Given the description of an element on the screen output the (x, y) to click on. 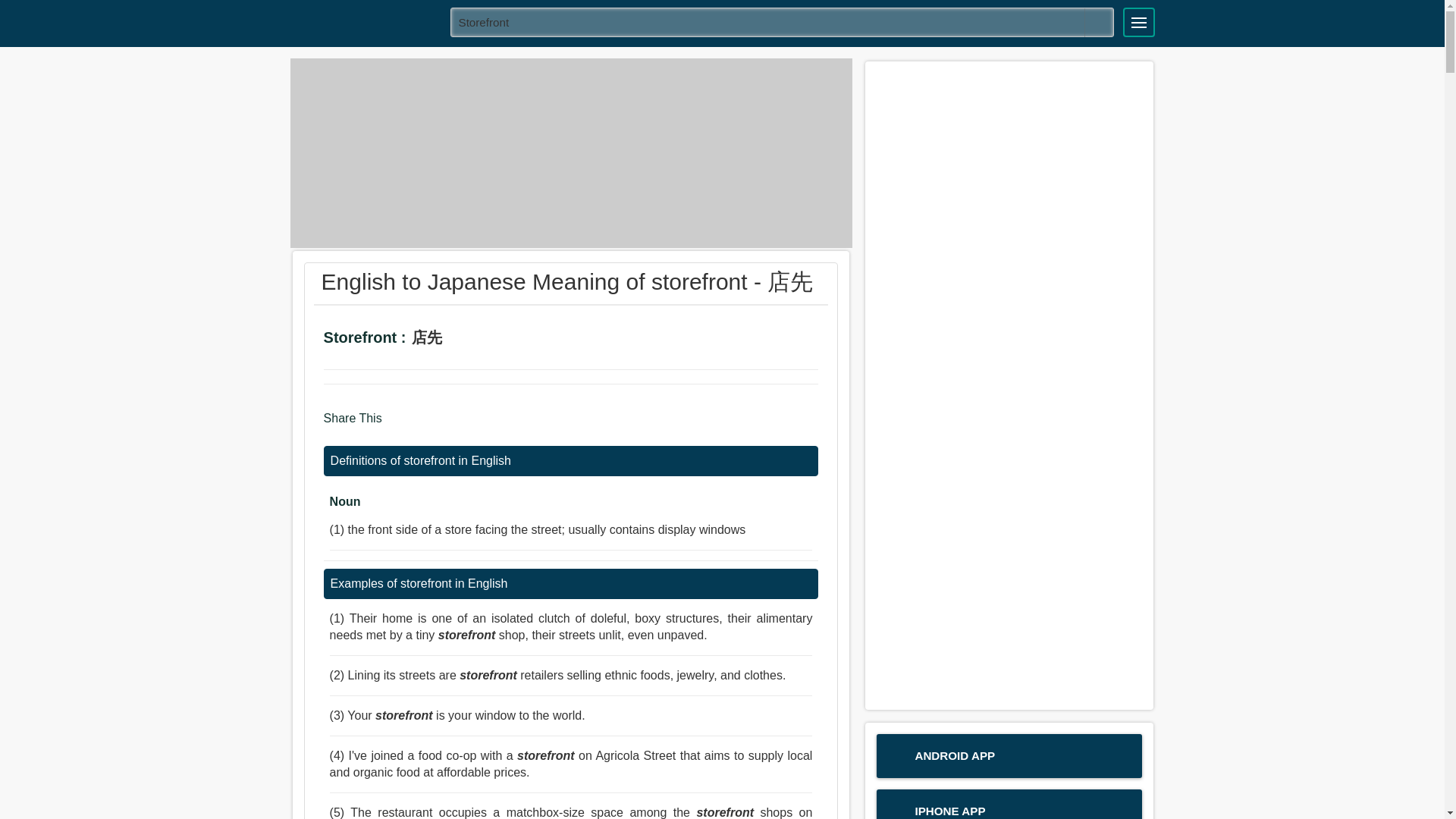
Add To Favorites (509, 338)
Linkedin (458, 424)
Search (1098, 22)
storefront (782, 21)
Facebook (398, 424)
More Share (485, 424)
JAPANESE (365, 20)
Twitter (428, 424)
Say The Word (467, 338)
